Given the description of an element on the screen output the (x, y) to click on. 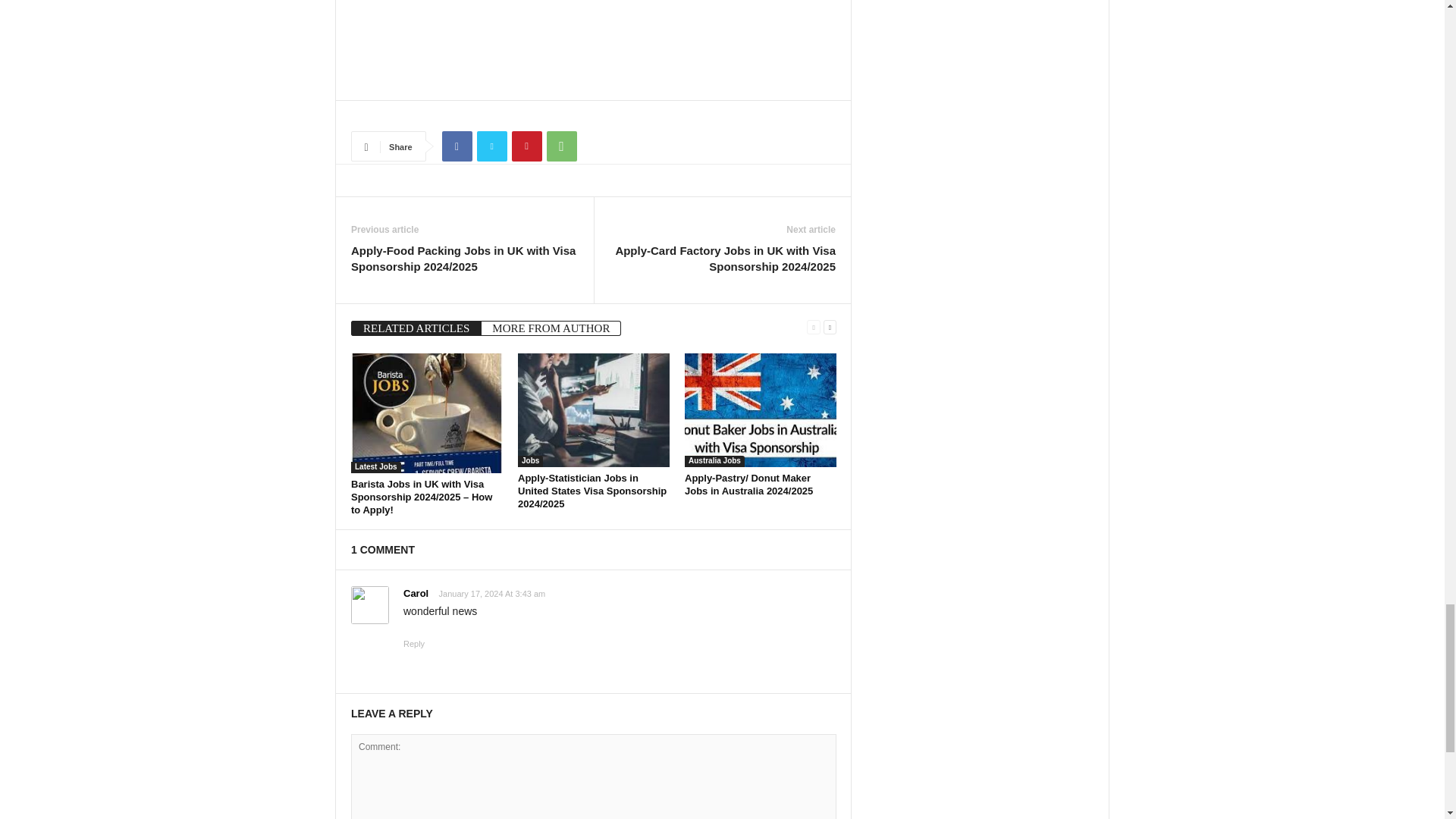
Advertisement (593, 40)
RELATED ARTICLES (415, 328)
Facebook (456, 146)
